Given the description of an element on the screen output the (x, y) to click on. 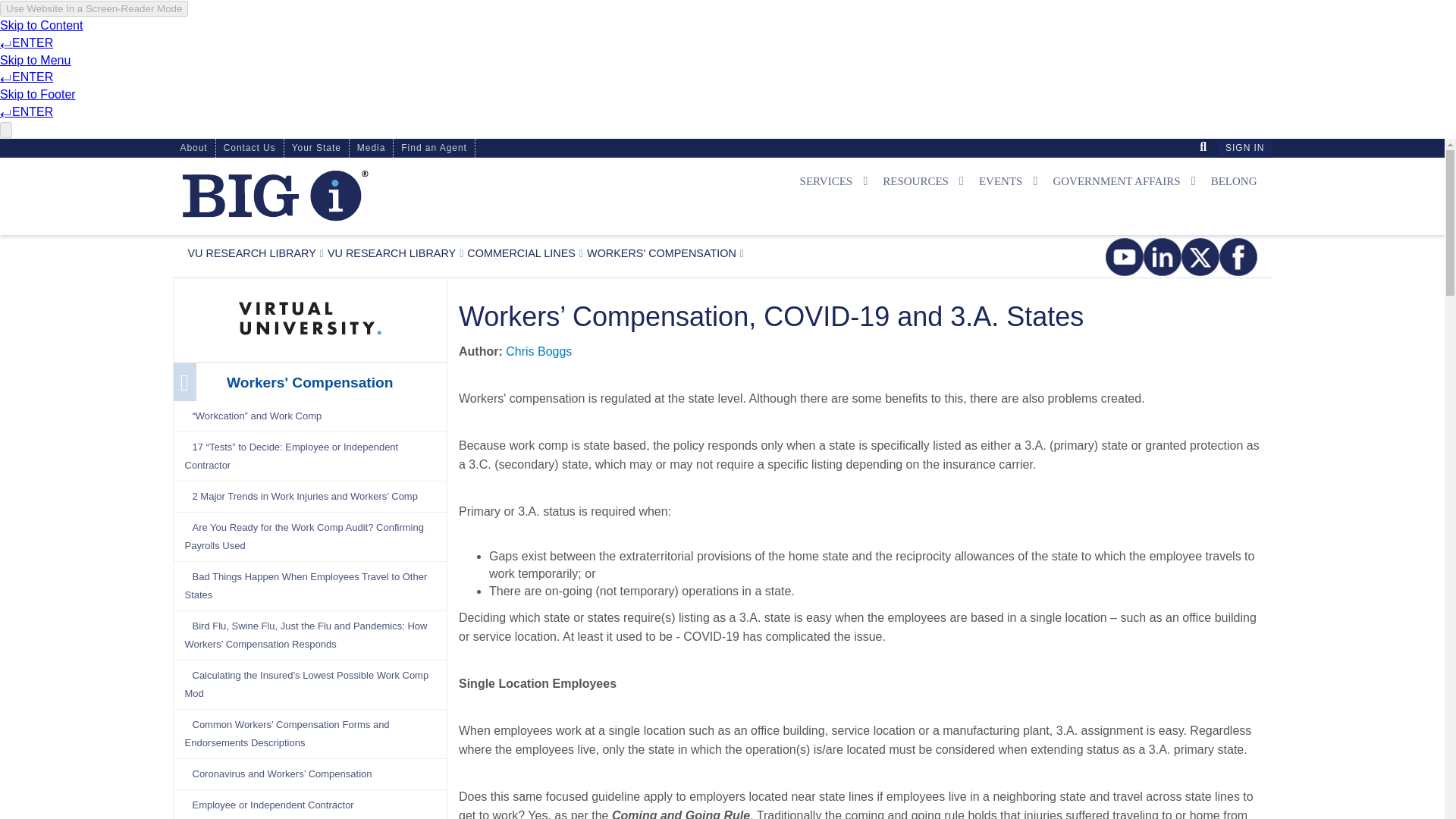
Your State (316, 147)
IACBWS06 (5, 5)
About (194, 147)
Contact Us (249, 147)
Home (350, 196)
Home (274, 195)
Sign In to access benefits (1244, 148)
Virtual University (251, 253)
SIGN IN (1244, 148)
VU Research Library (391, 253)
Find an Agent (433, 147)
Media (371, 147)
Commercial-Lines (521, 253)
